Given the description of an element on the screen output the (x, y) to click on. 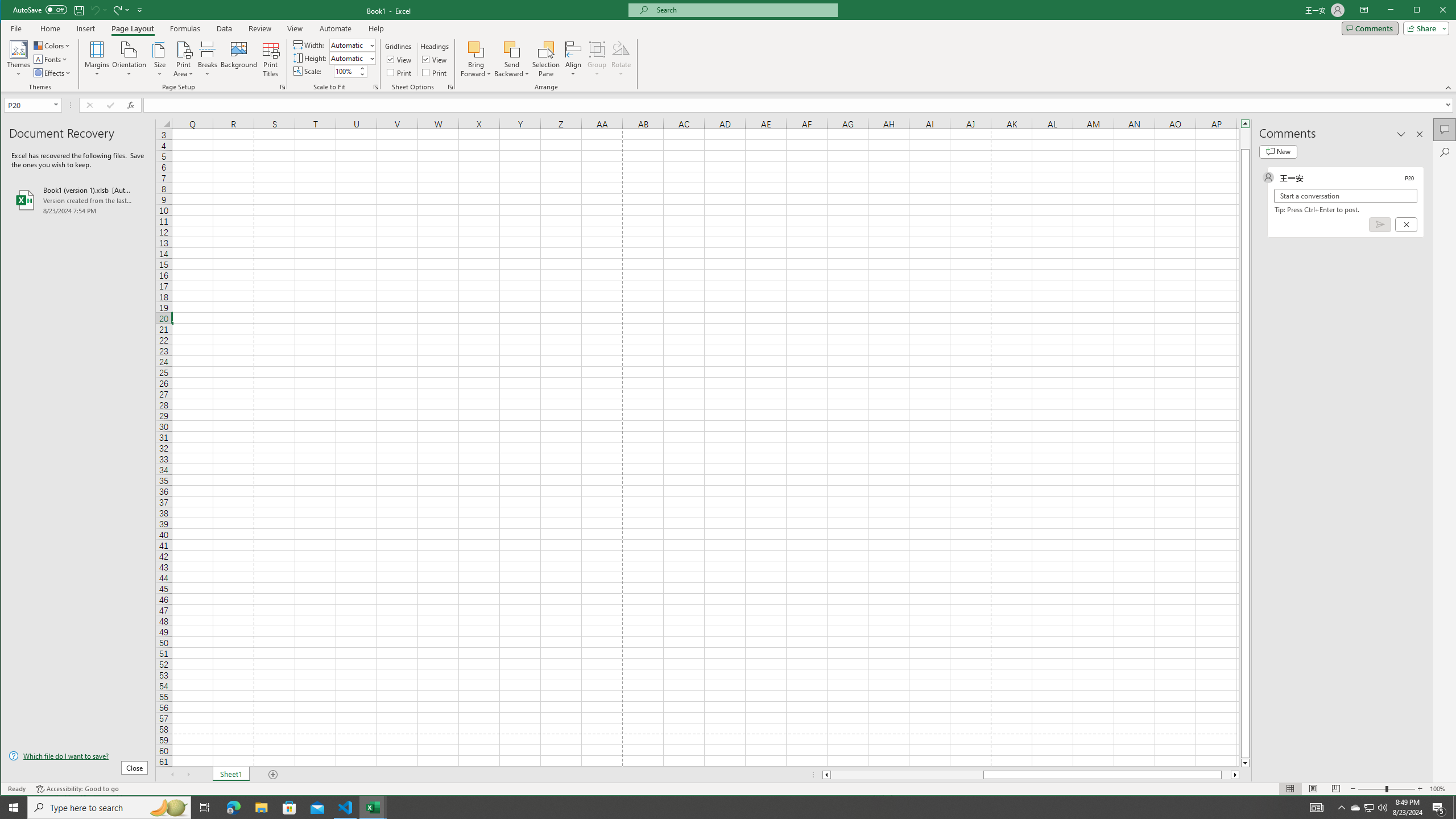
Microsoft search (742, 10)
Type here to search (108, 807)
Themes (18, 59)
New comment (1278, 151)
Selection Pane... (546, 59)
Q2790: 100% (1382, 807)
Post comment (Ctrl + Enter) (1379, 224)
Running applications (717, 807)
Bring Forward (476, 48)
